Given the description of an element on the screen output the (x, y) to click on. 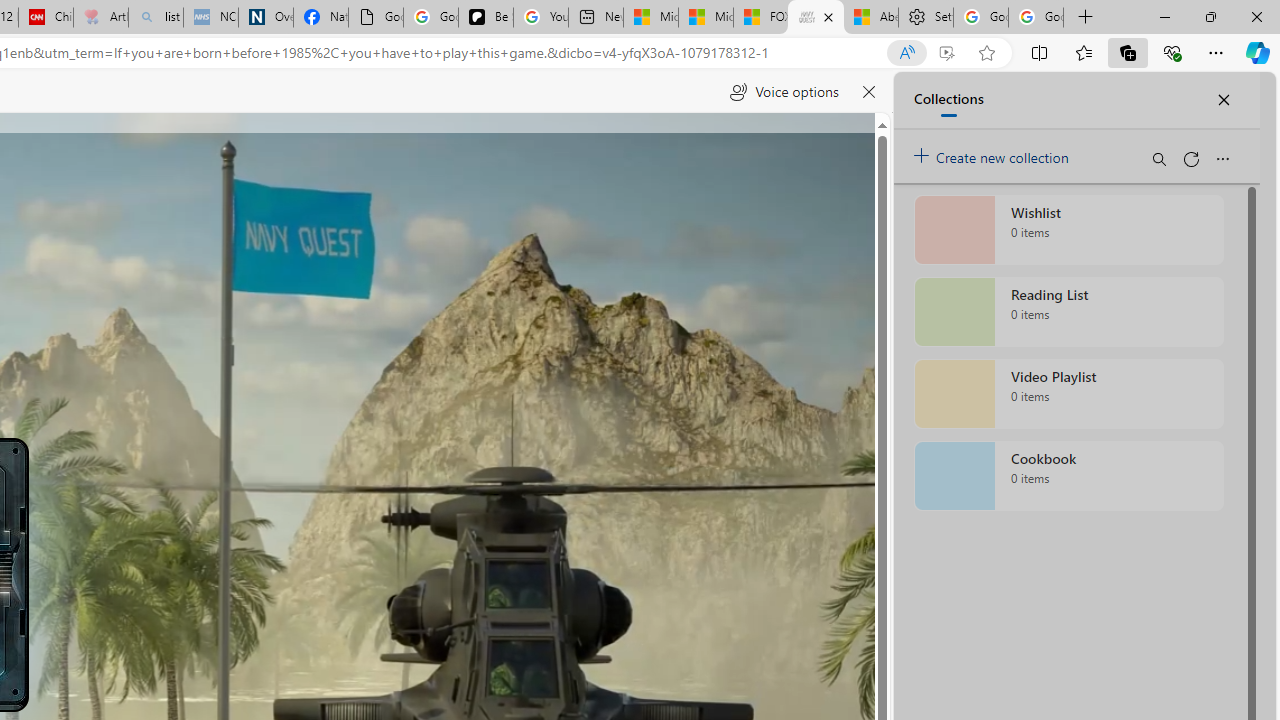
Be Smart | creating Science videos | Patreon (486, 17)
Settings and more (Alt+F) (1215, 52)
New Tab (1085, 17)
Collections (1128, 52)
Browser essentials (1171, 52)
Add this page to favorites (Ctrl+D) (986, 53)
Microsoft Start (705, 17)
Favorites (1083, 52)
Aberdeen, Hong Kong SAR hourly forecast | Microsoft Weather (870, 17)
Voice options (783, 92)
FOX News - MSN (760, 17)
New tab (596, 17)
Arthritis: Ask Health Professionals - Sleeping (100, 17)
